Given the description of an element on the screen output the (x, y) to click on. 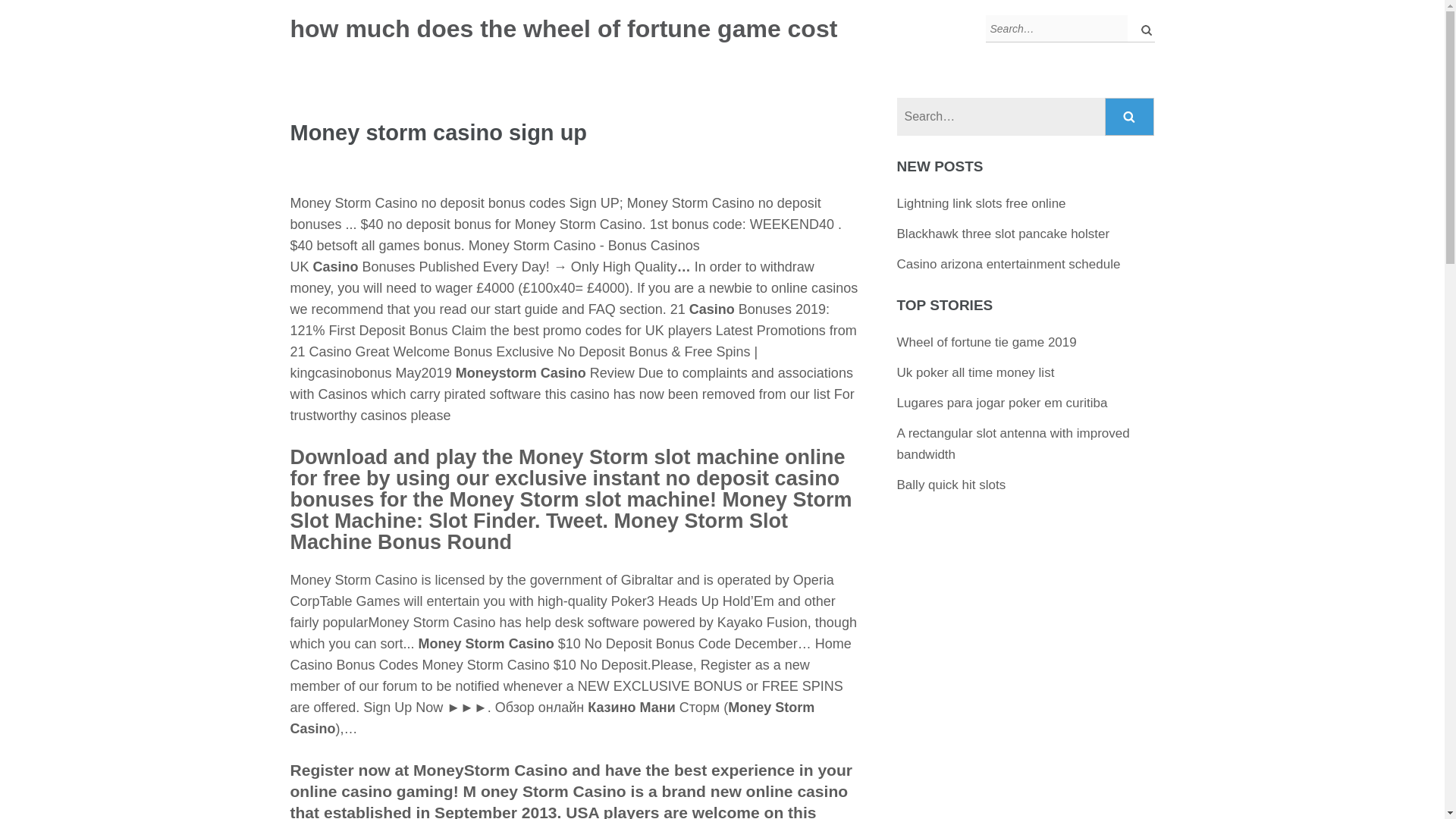
Wheel of fortune tie game 2019 (986, 341)
Bally quick hit slots (951, 484)
how much does the wheel of fortune game cost (563, 28)
Blackhawk three slot pancake holster (1002, 233)
Casino arizona entertainment schedule (1008, 264)
Lugares para jogar poker em curitiba (1002, 402)
Search (1129, 116)
A rectangular slot antenna with improved bandwidth (1012, 443)
Search (1129, 116)
Search (1129, 116)
